Given the description of an element on the screen output the (x, y) to click on. 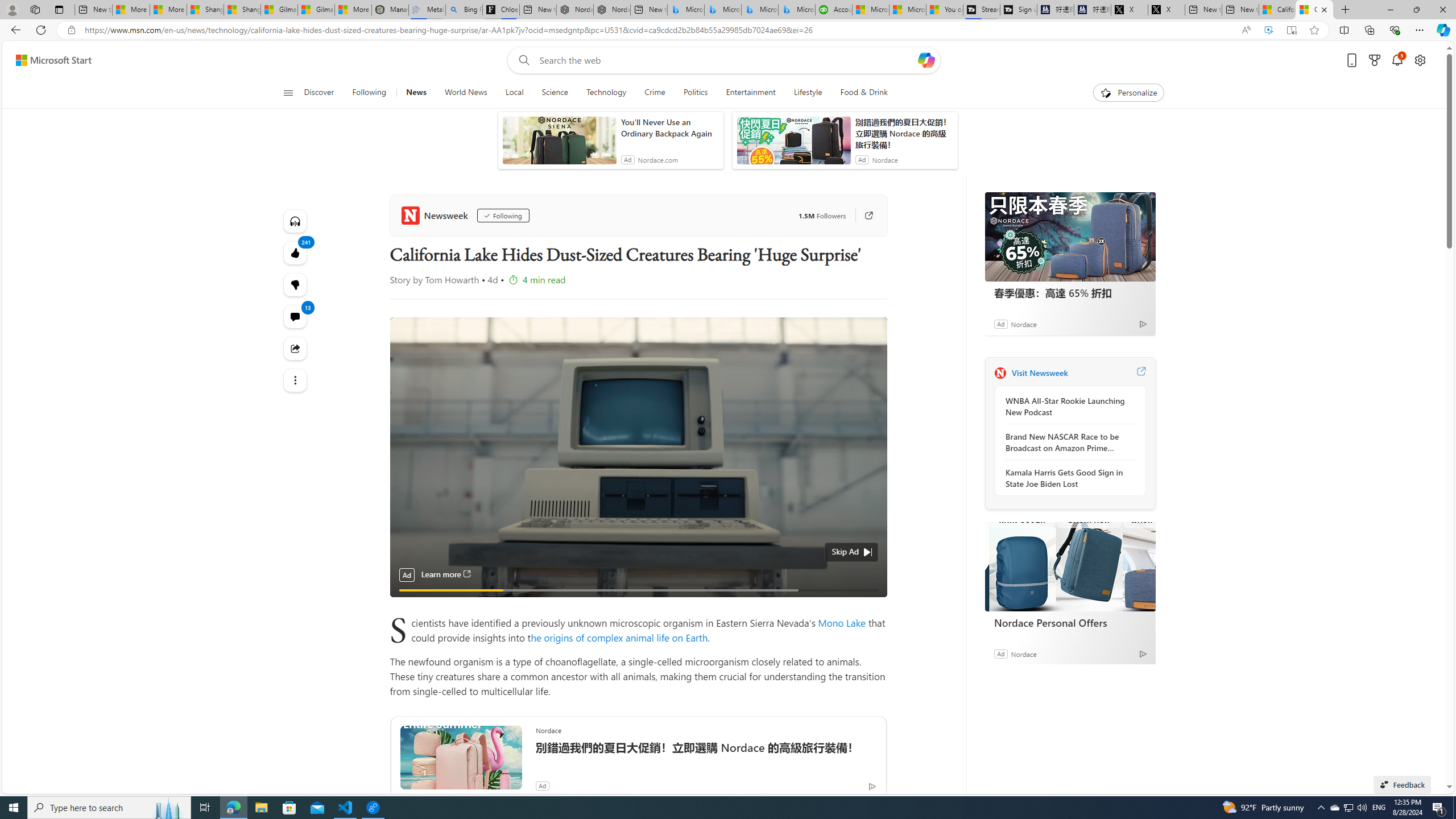
Microsoft Bing Travel - Stays in Bangkok, Bangkok, Thailand (721, 9)
Politics (695, 92)
Visit Newsweek website (1140, 372)
Entertainment (750, 92)
Brand New NASCAR Race to be Broadcast on Amazon Prime Video (1066, 441)
Enter Immersive Reader (F9) (1291, 29)
anim-content (793, 144)
